Given the description of an element on the screen output the (x, y) to click on. 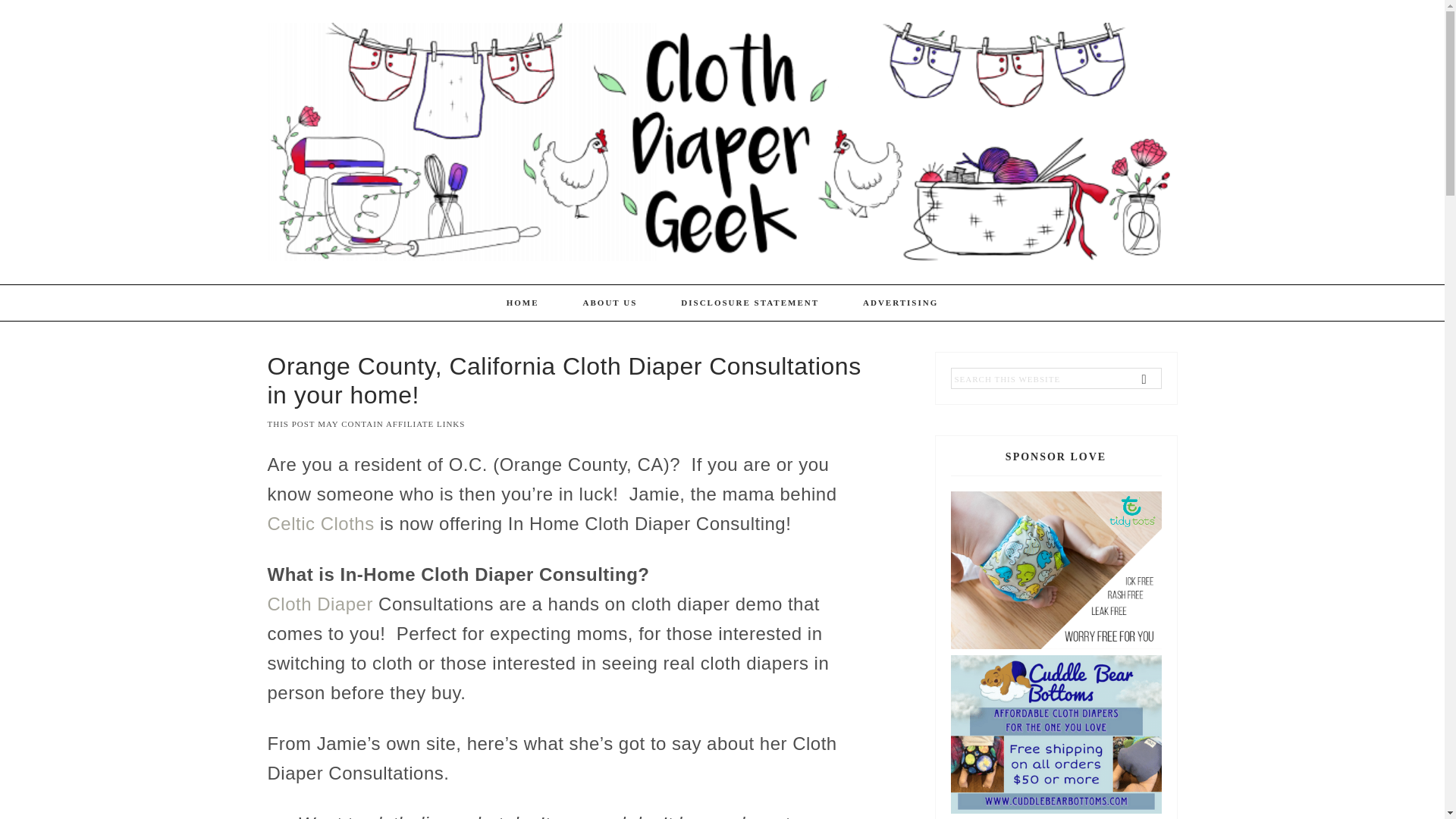
HOME (522, 302)
Cloth Diaper (319, 603)
Celtic Cloths (320, 523)
ADVERTISING (900, 302)
DISCLOSURE STATEMENT (750, 302)
ABOUT US (610, 302)
